Given the description of an element on the screen output the (x, y) to click on. 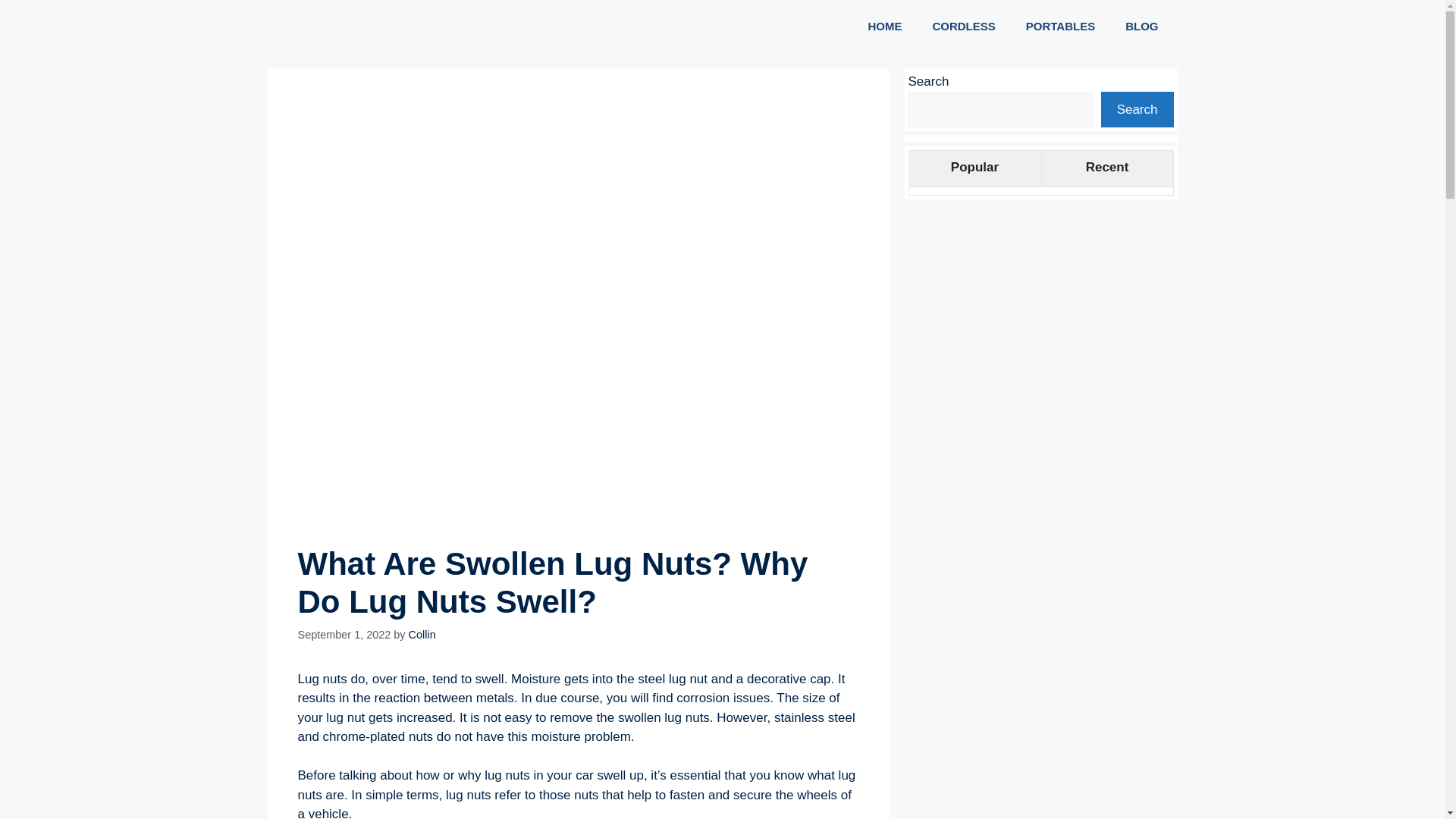
Popular (974, 168)
View all posts by Collin (422, 634)
BLOG (1141, 26)
PORTABLES (1059, 26)
CORDLESS (963, 26)
Search (1136, 108)
HOME (884, 26)
Collin (422, 634)
Recent (1106, 168)
